Given the description of an element on the screen output the (x, y) to click on. 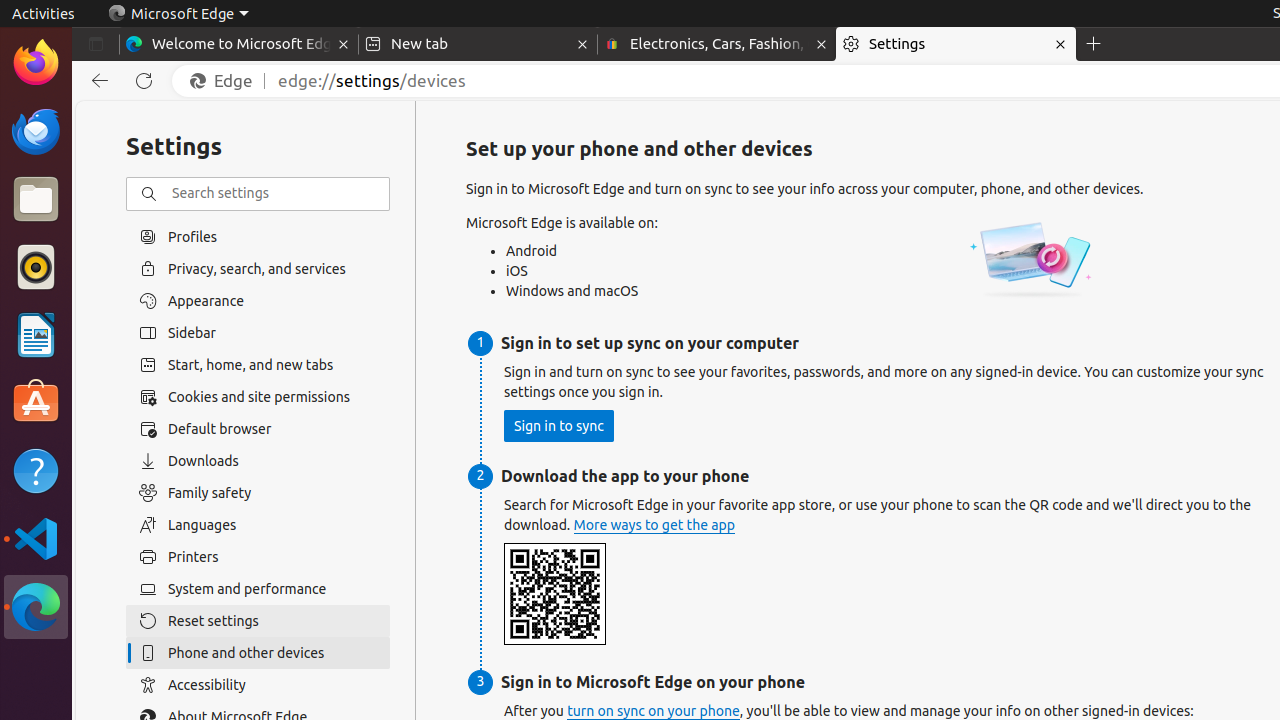
Files Element type: push-button (36, 199)
Sign in to sync Element type: push-button (559, 426)
Start, home, and new tabs Element type: tree-item (258, 365)
Microsoft Edge Element type: push-button (36, 607)
Tab actions menu Element type: push-button (96, 44)
